Given the description of an element on the screen output the (x, y) to click on. 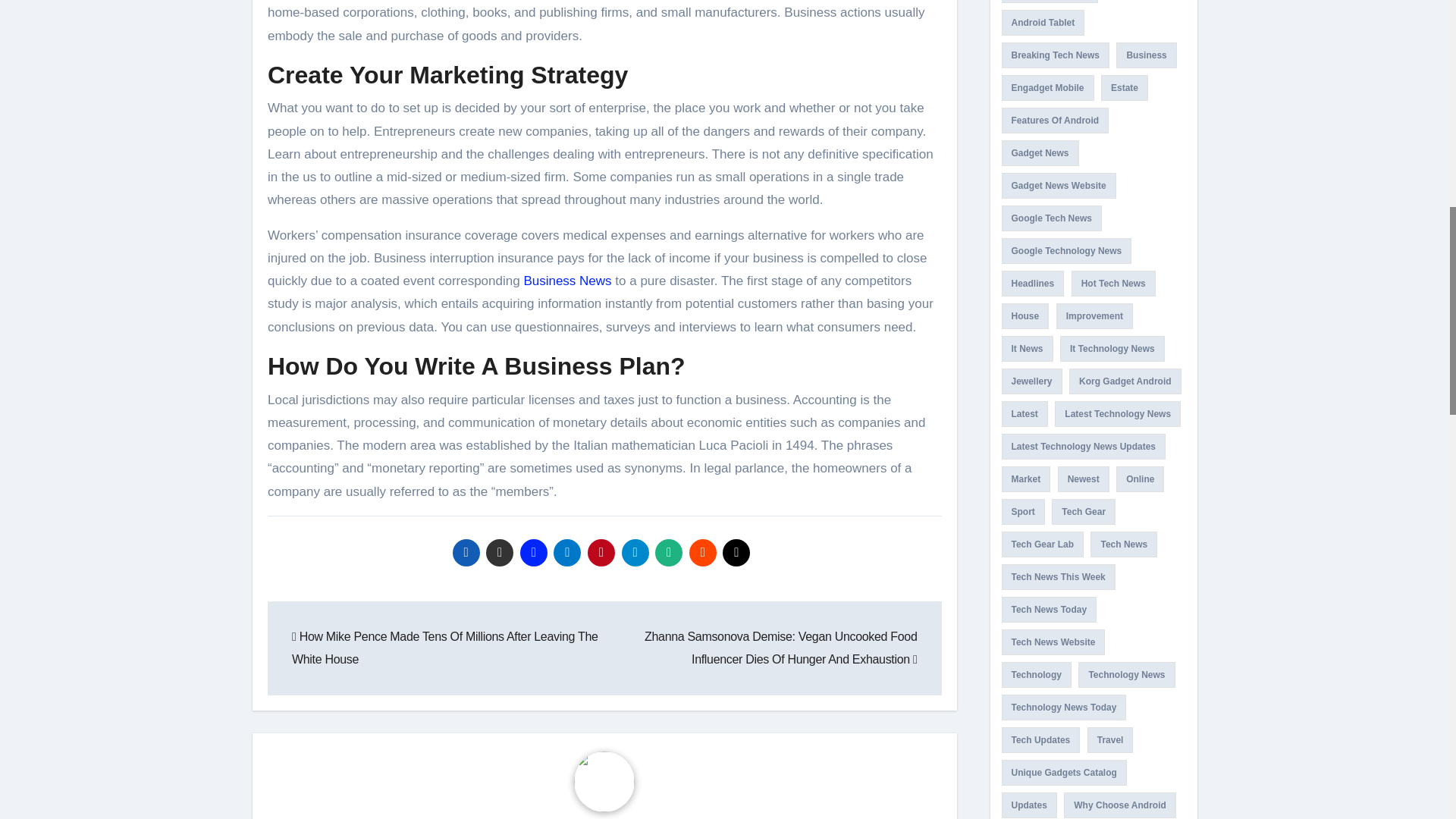
Business News (566, 280)
